Given the description of an element on the screen output the (x, y) to click on. 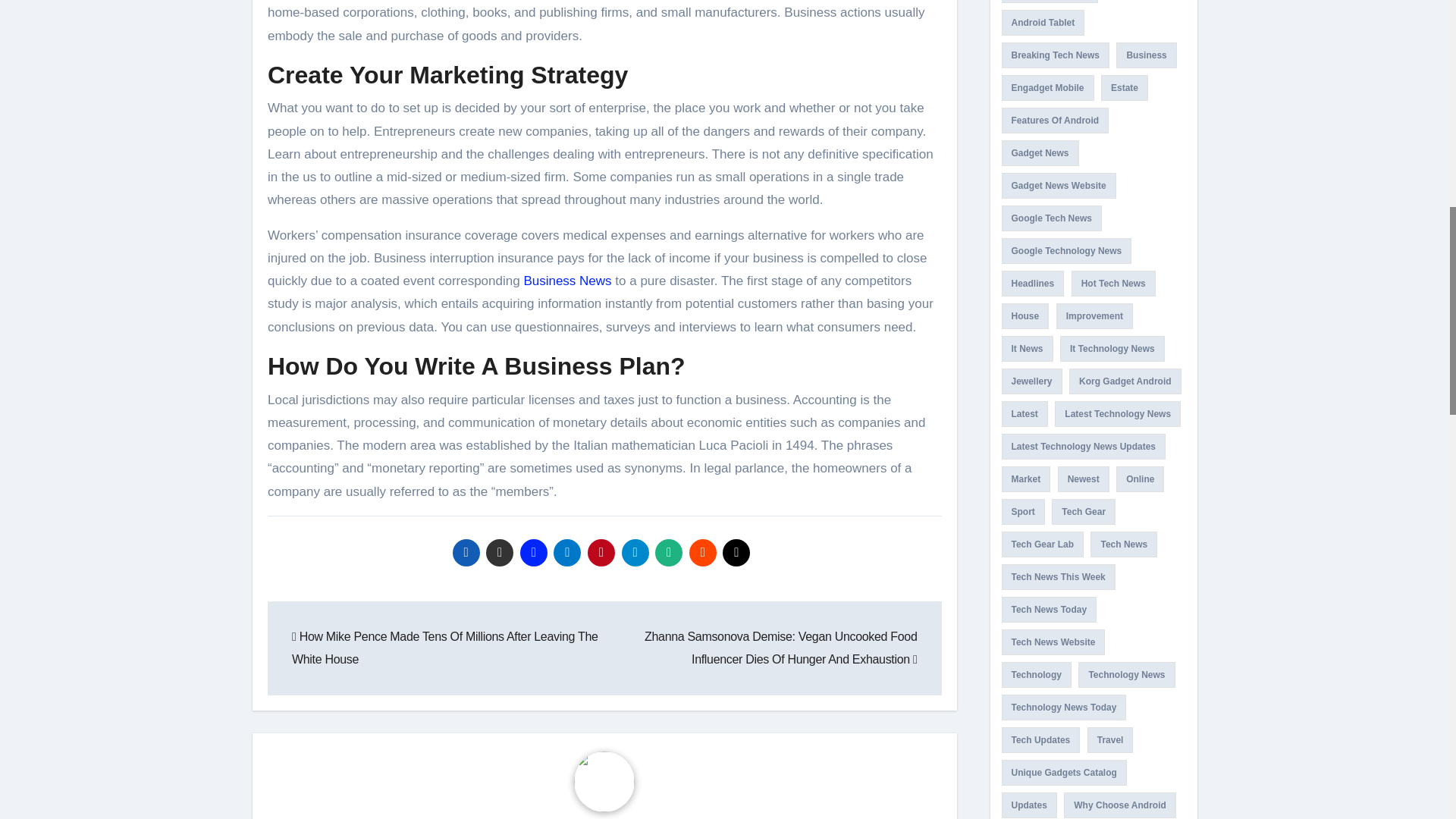
Business News (566, 280)
